Given the description of an element on the screen output the (x, y) to click on. 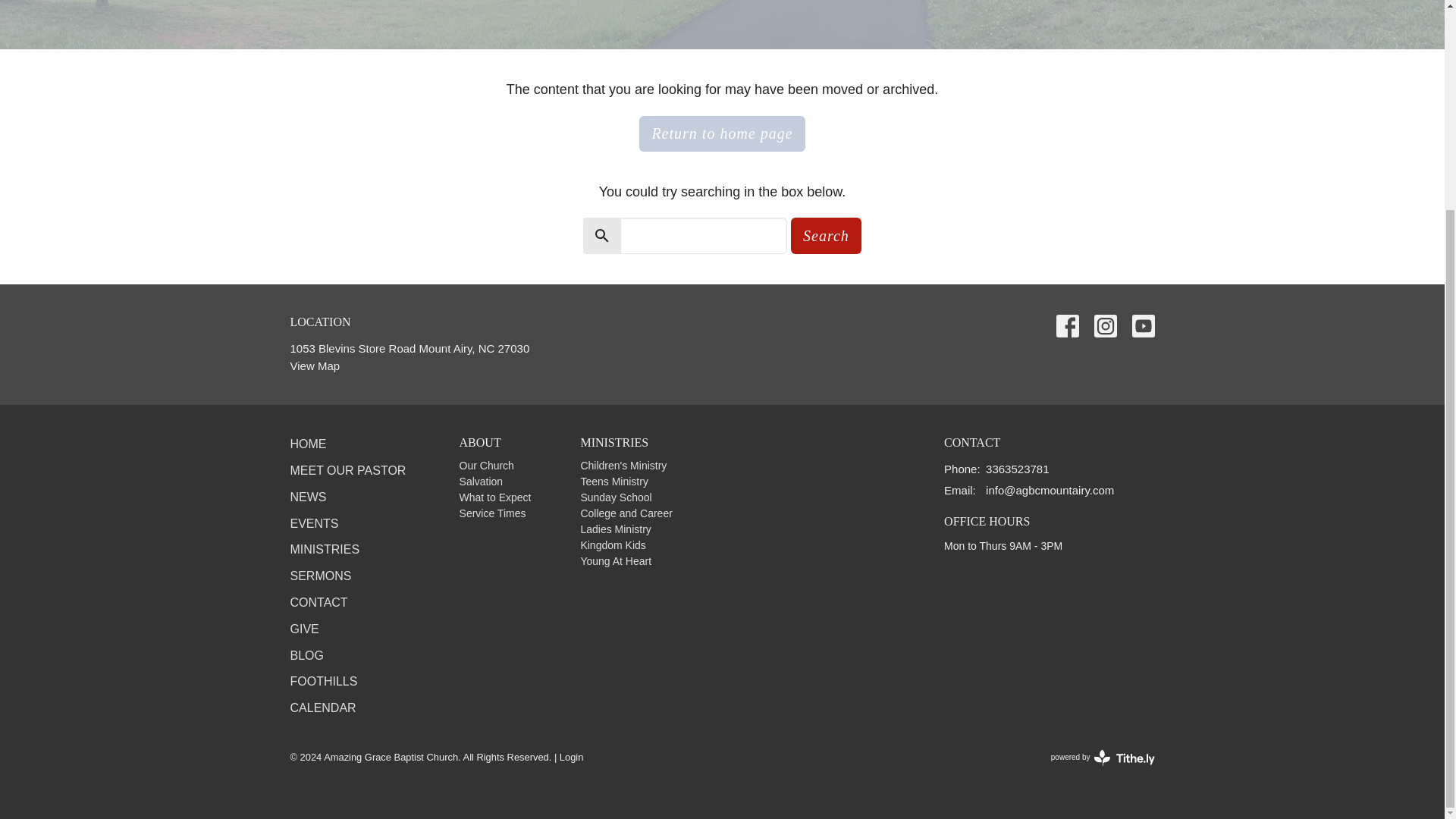
Children's Ministry (622, 465)
CALENDAR (322, 707)
Return to home page (722, 133)
NEWS (307, 496)
SERMONS (319, 575)
HOME (307, 443)
View Map (314, 365)
translation missing: en.ui.email (957, 490)
Our Church (486, 465)
BLOG (306, 655)
